Given the description of an element on the screen output the (x, y) to click on. 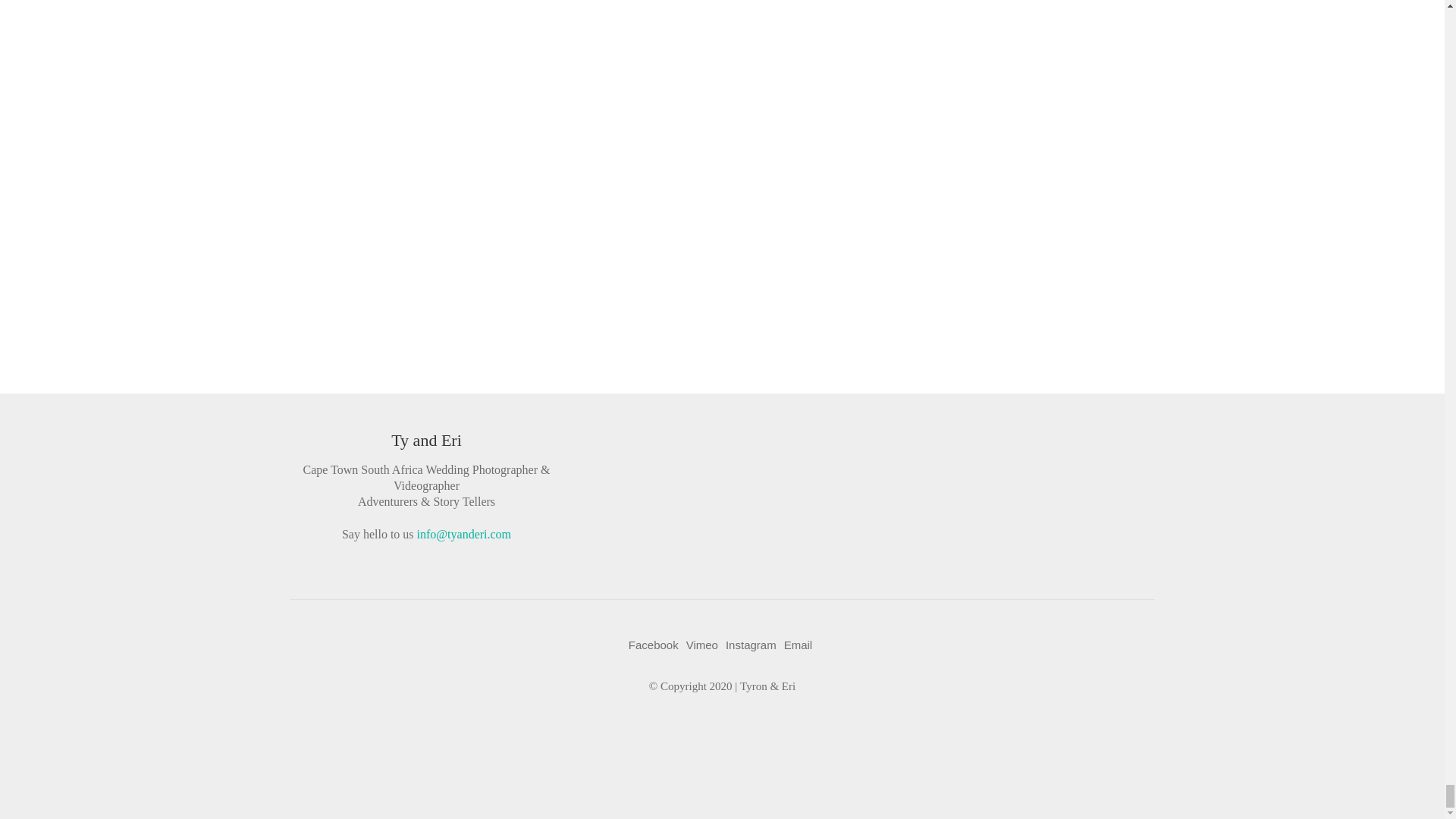
Vimeo (701, 645)
Instagram (750, 645)
Facebook (653, 645)
Email (798, 645)
